Given the description of an element on the screen output the (x, y) to click on. 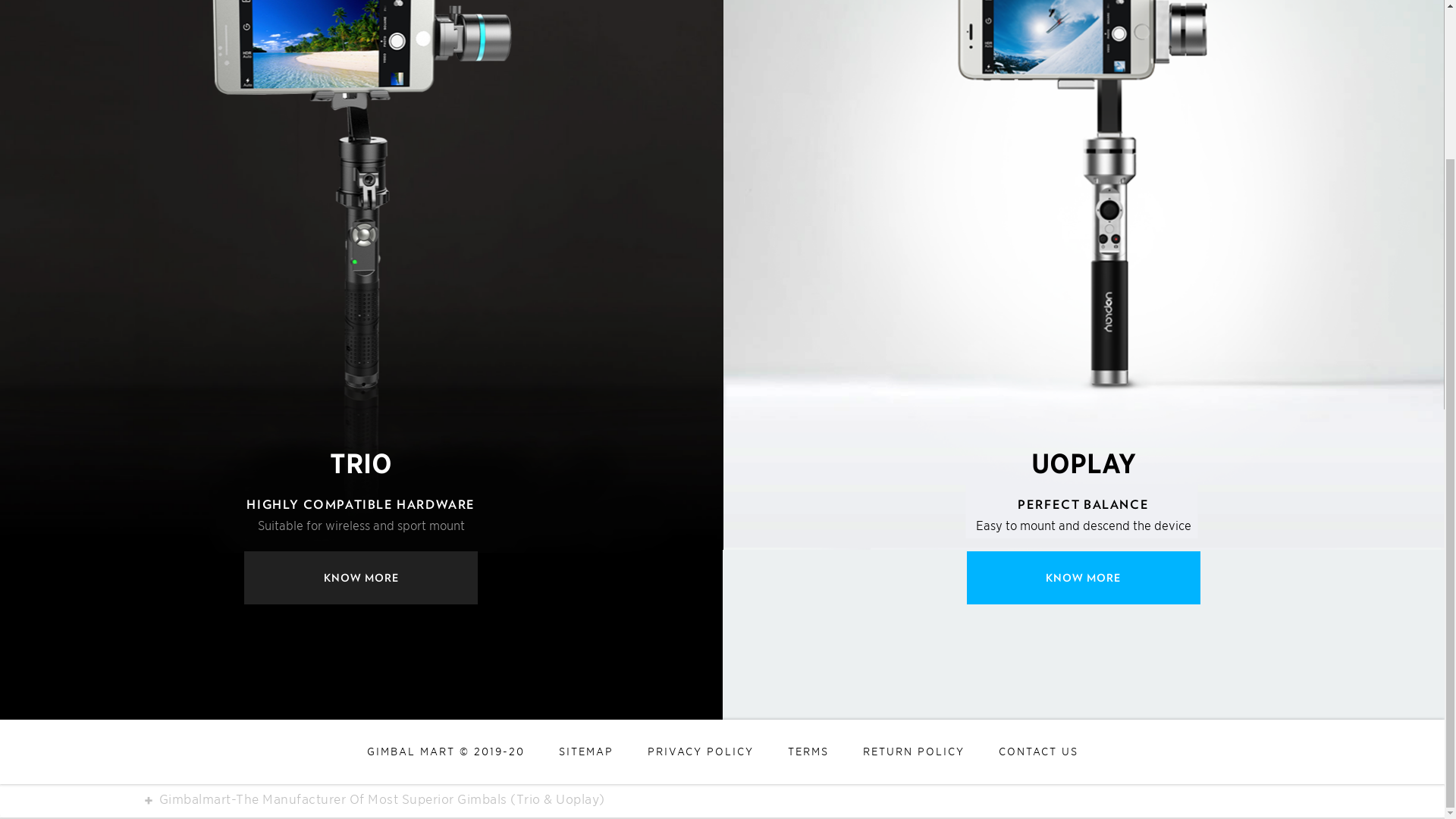
PRIVACY POLICY (700, 751)
SITEMAP (585, 751)
TERMS (806, 751)
CONTACT US (1037, 751)
KNOW MORE (1082, 577)
KNOW MORE (360, 577)
RETURN POLICY (914, 751)
